Given the description of an element on the screen output the (x, y) to click on. 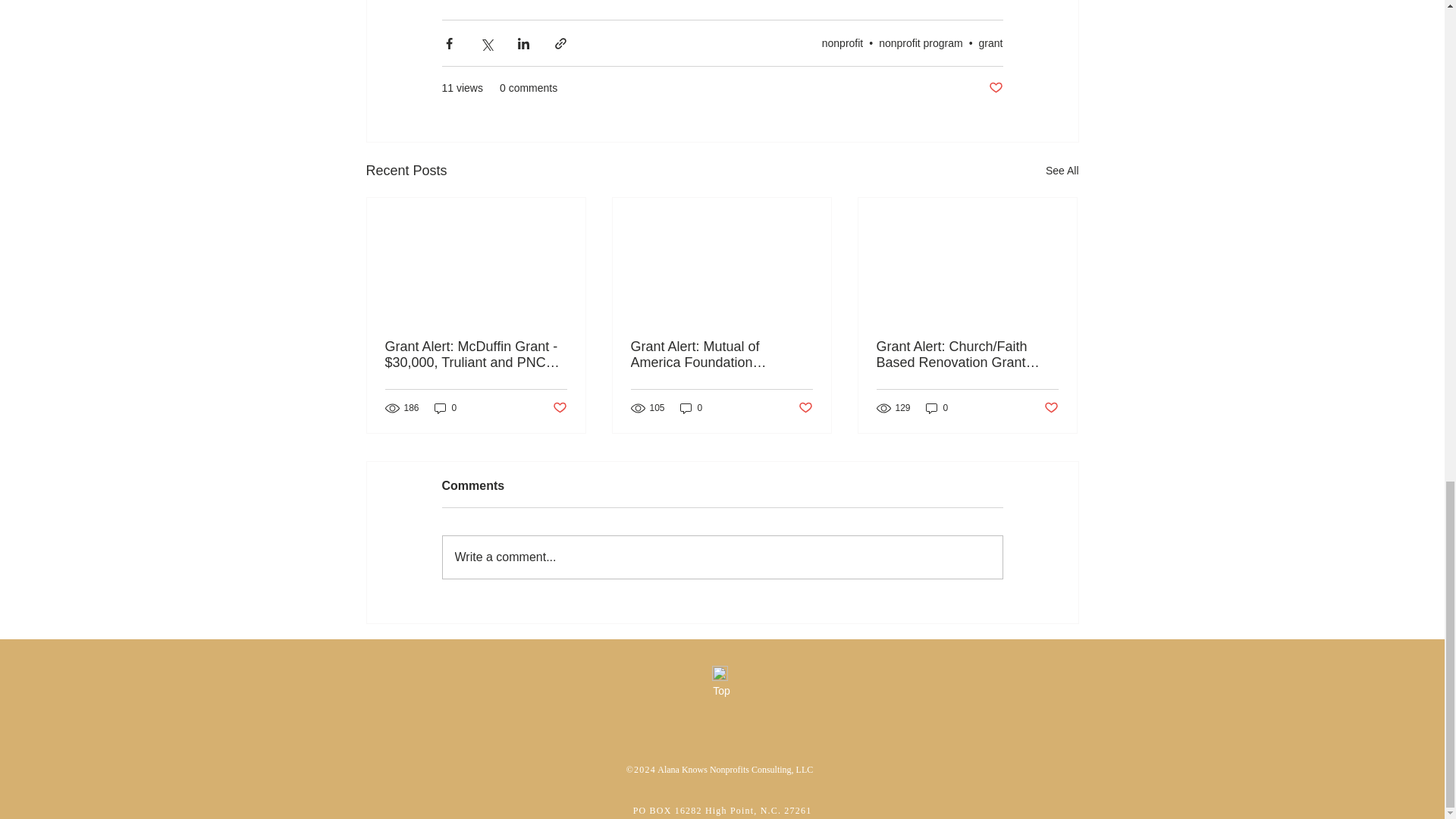
Post not marked as liked (1050, 408)
Top (721, 691)
0 (445, 408)
Post not marked as liked (804, 408)
Post not marked as liked (995, 88)
grant (990, 42)
0 (691, 408)
Write a comment... (722, 557)
nonprofit program (920, 42)
0 (937, 408)
See All (1061, 170)
Post not marked as liked (558, 408)
nonprofit (842, 42)
